Given the description of an element on the screen output the (x, y) to click on. 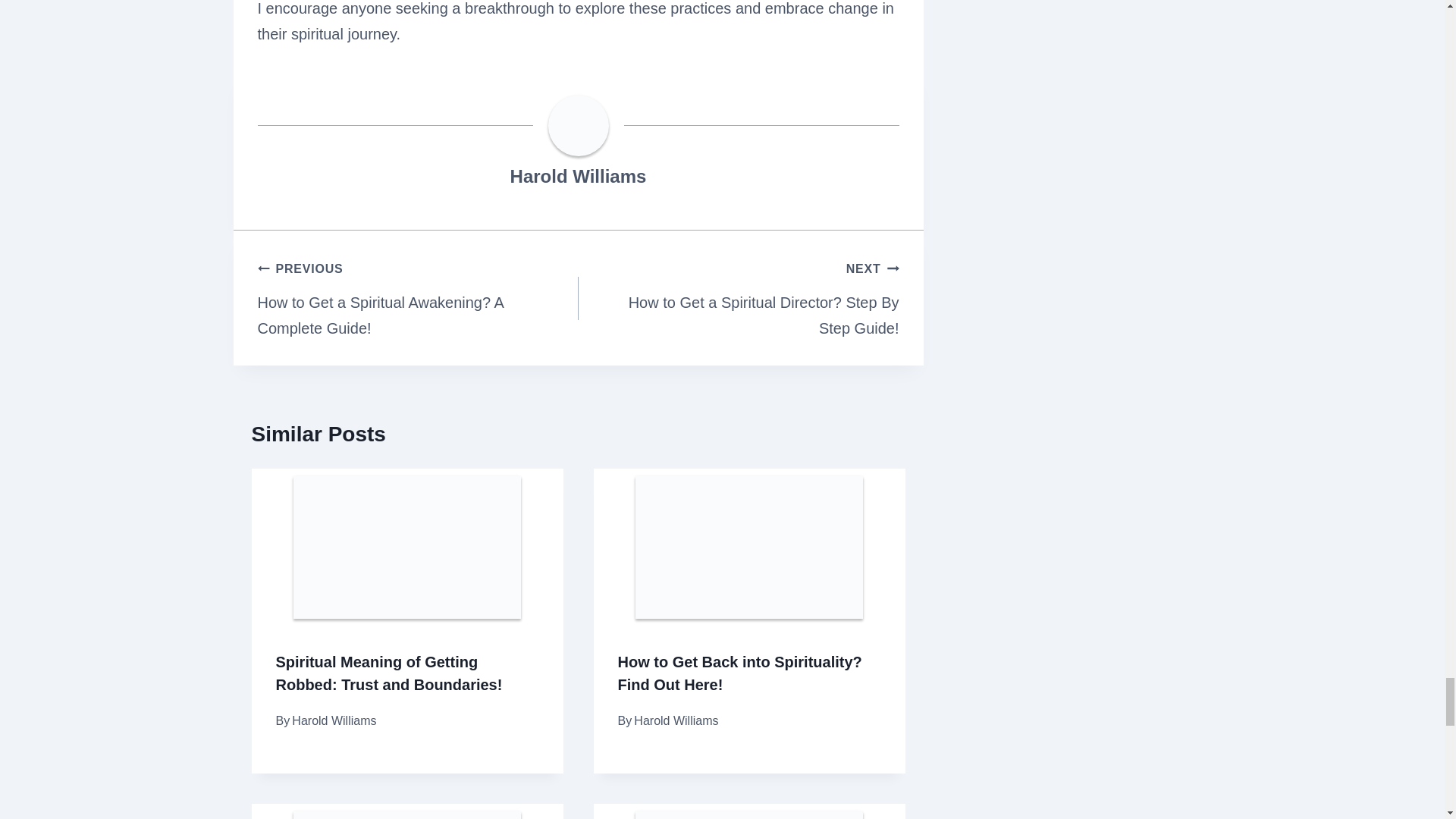
Posts by Harold Williams (578, 176)
